Given the description of an element on the screen output the (x, y) to click on. 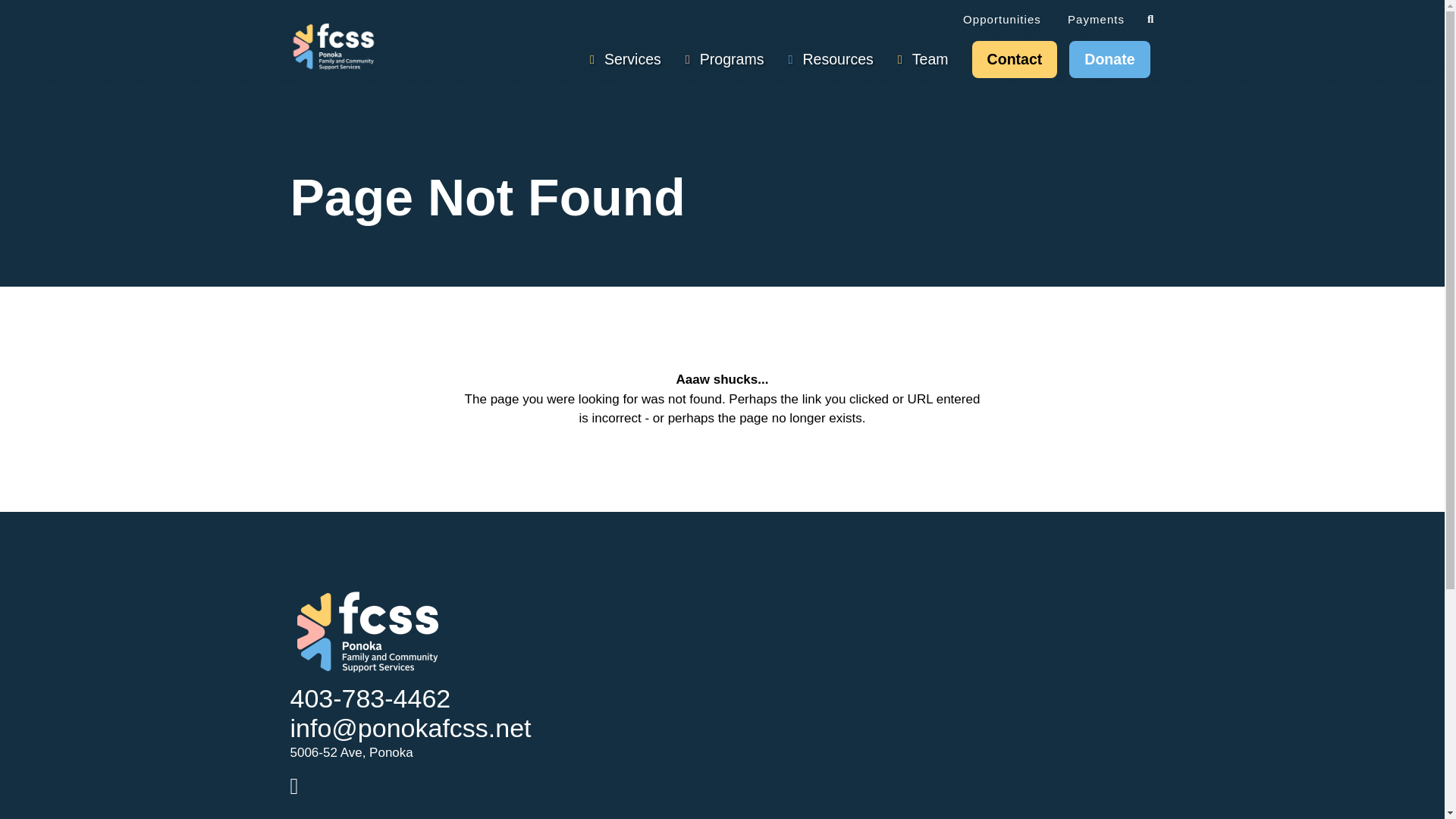
Donate (1109, 59)
Team (926, 59)
Resources (833, 59)
403-783-4462 (369, 703)
Team (926, 59)
Ponoka FCSS (332, 46)
Town of Ponoka (381, 814)
Contact (1015, 59)
Programs (728, 59)
Services (628, 59)
